Given the description of an element on the screen output the (x, y) to click on. 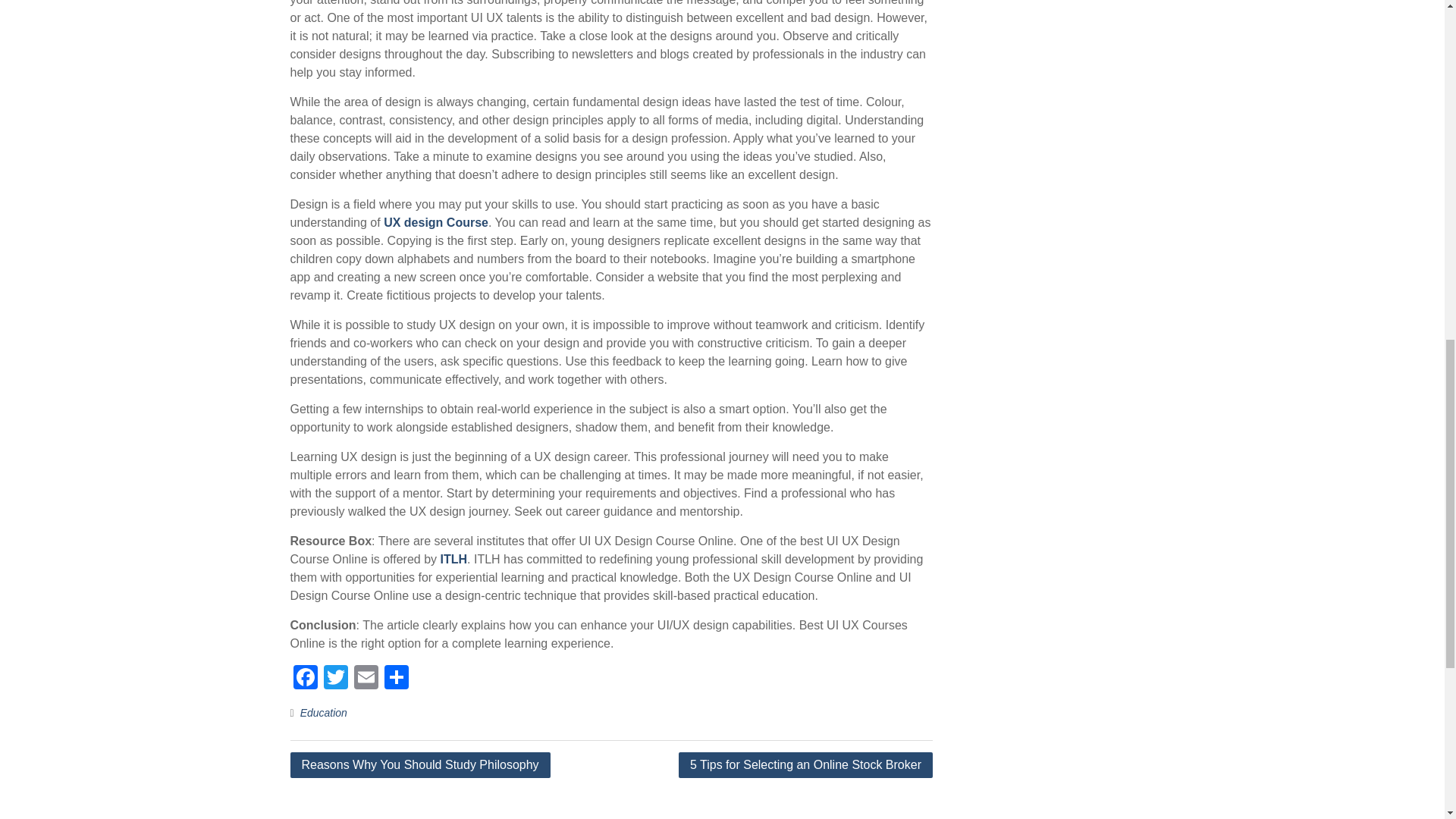
Email (365, 678)
Facebook (304, 678)
Email (365, 678)
Twitter (335, 678)
5 Tips for Selecting an Online Stock Broker (805, 765)
UX design Course (435, 222)
Twitter (335, 678)
Facebook (304, 678)
Reasons Why You Should Study Philosophy (419, 765)
Education (323, 712)
